Given the description of an element on the screen output the (x, y) to click on. 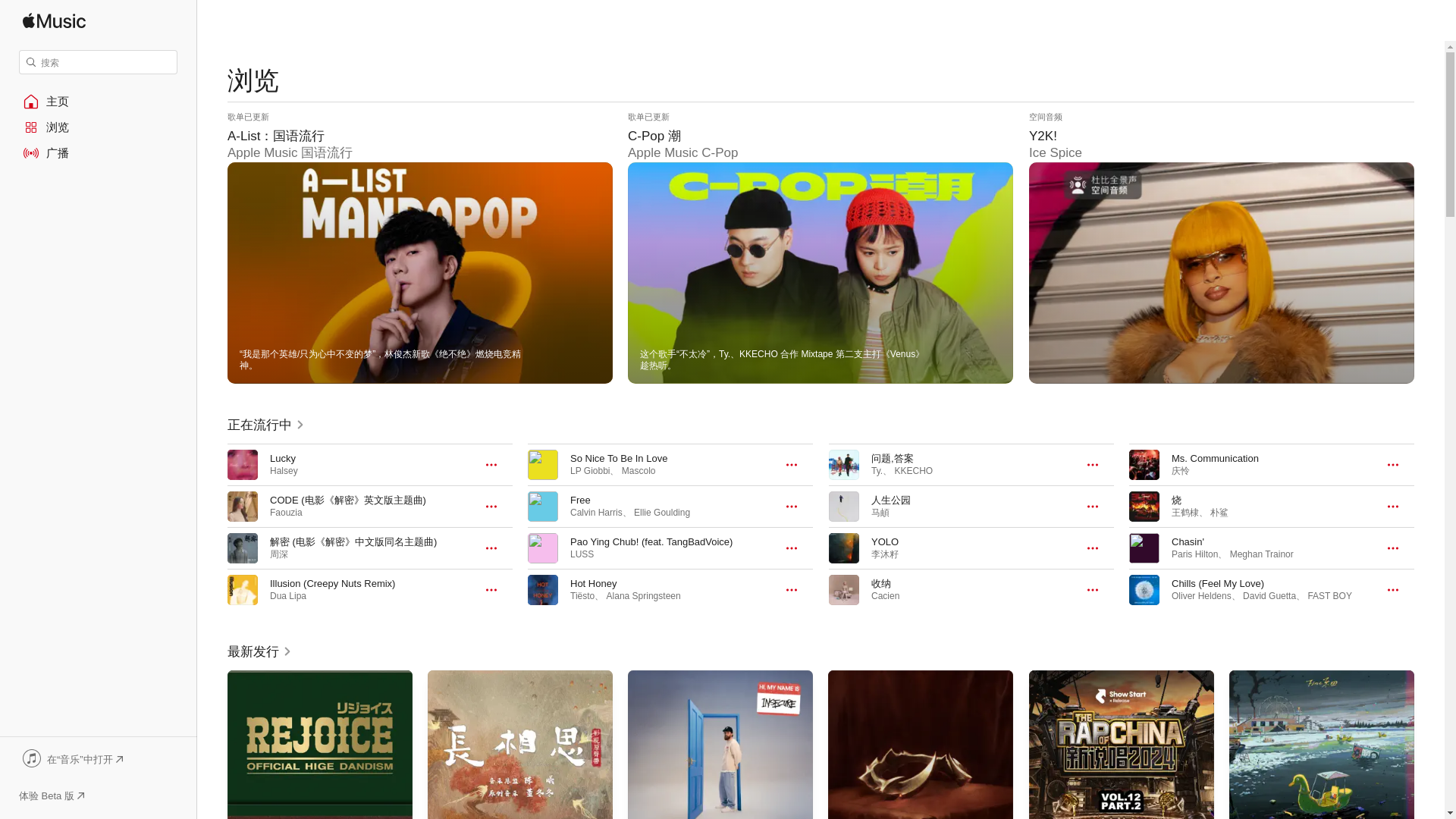
Dua Lipa (287, 595)
Mascolo (638, 470)
Free (580, 500)
Y2K! (1221, 247)
Faouzia (285, 511)
LP Giobbi (590, 470)
Ellie Goulding (661, 511)
Halsey (283, 470)
Calvin Harris (596, 511)
So Nice To Be In Love (618, 458)
Lucky (282, 458)
